Given the description of an element on the screen output the (x, y) to click on. 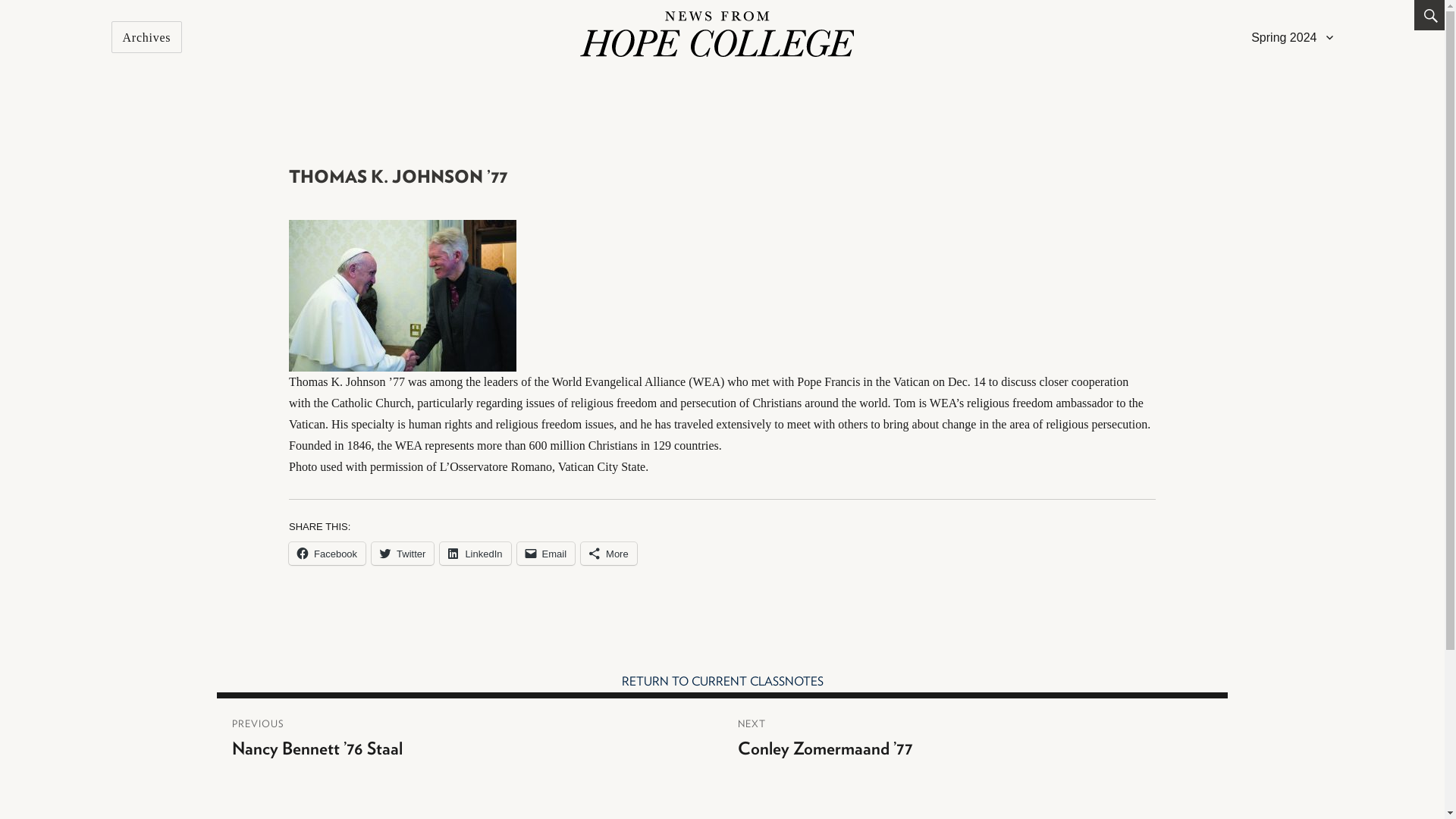
Email (545, 553)
Twitter (402, 553)
Click to share on Facebook (326, 553)
Archives (147, 37)
Click to email a link to a friend (545, 553)
LinkedIn (475, 553)
Click to share on Twitter (402, 553)
Spring 2024 (1291, 37)
More (608, 553)
Archives (147, 37)
Click to share on LinkedIn (475, 553)
Facebook (326, 553)
